Given the description of an element on the screen output the (x, y) to click on. 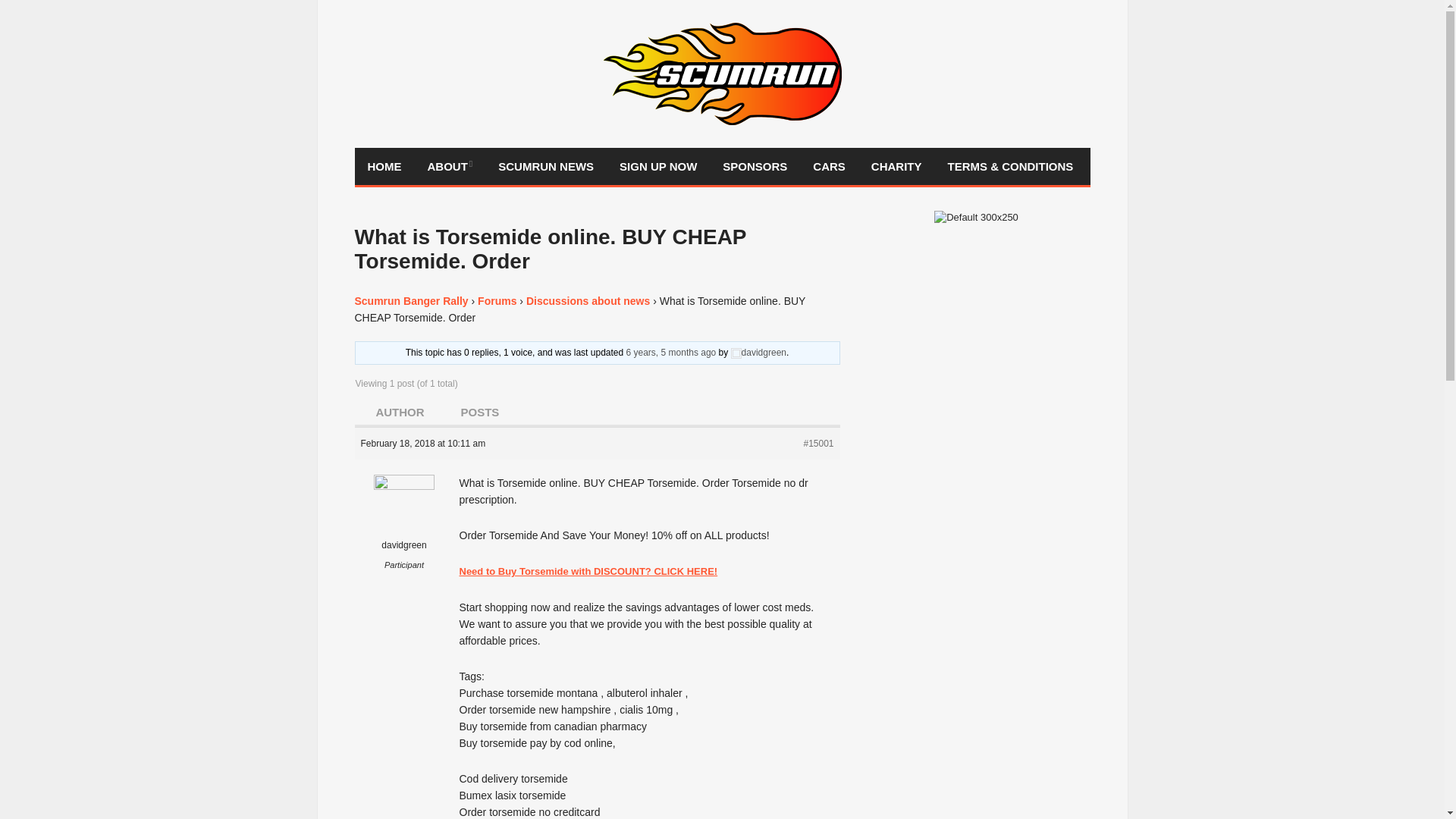
SCUMRUN NEWS (545, 166)
Charity (896, 166)
Sign Up Now (658, 166)
Home (384, 166)
SPONSORS (754, 166)
Scumrun Banger Rally (411, 300)
Forums (496, 300)
CARS (829, 166)
What is Torsemide online. BUY CHEAP Torsemide. Order (671, 352)
davidgreen (404, 524)
About (448, 166)
Scumrun News (545, 166)
SIGN UP NOW (658, 166)
View davidgreen's profile (758, 352)
6 years, 5 months ago (671, 352)
